Given the description of an element on the screen output the (x, y) to click on. 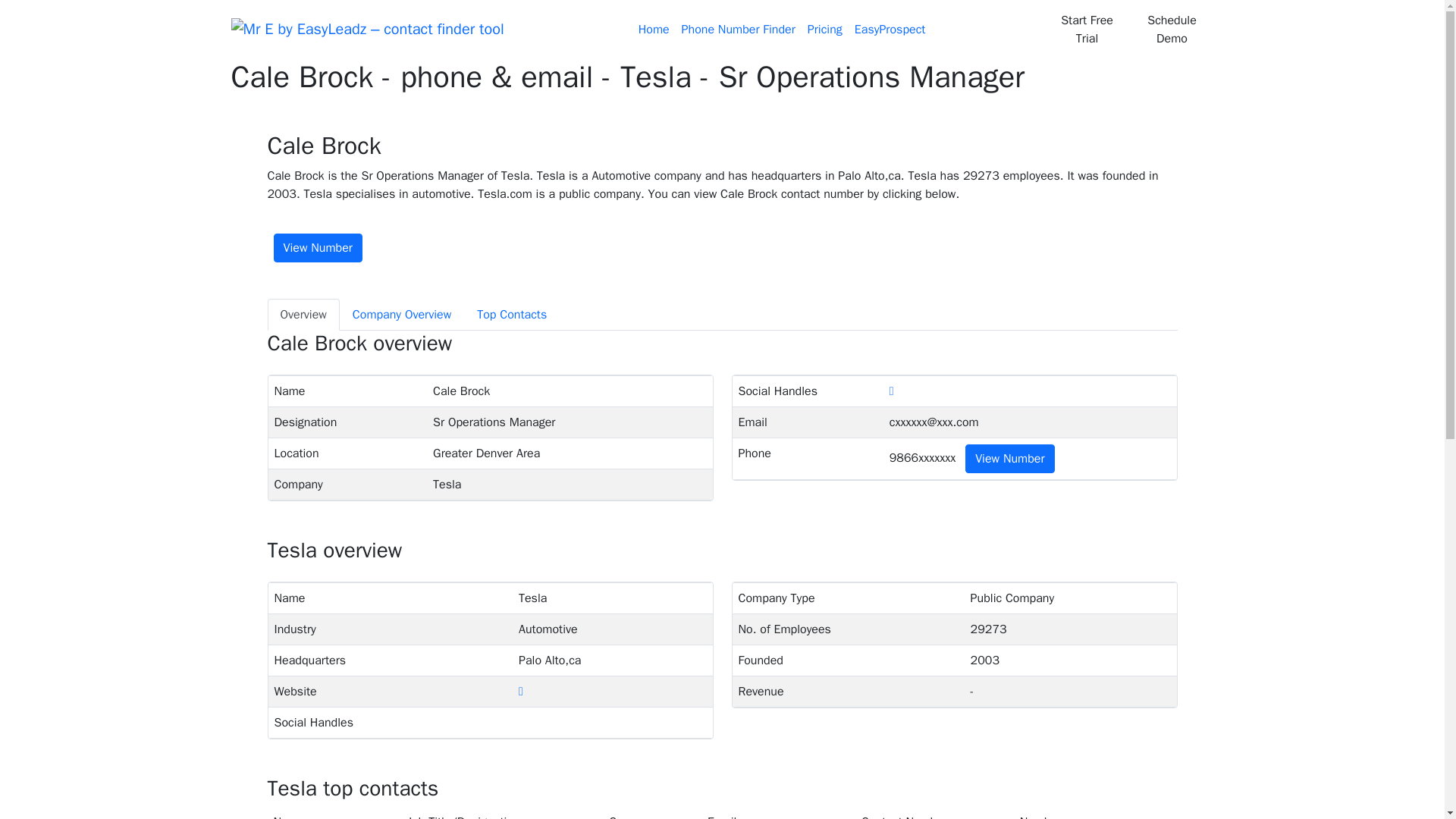
View Number (317, 247)
EasyProspect (889, 29)
Phone Number Finder (738, 29)
Pricing (825, 29)
Phone Number Finder (738, 29)
Schedule Demo (1172, 29)
Pricing (825, 29)
Top Contacts (511, 314)
Home (653, 29)
Start Free Trial (1085, 29)
Company Overview (401, 314)
View Number (1009, 458)
Home (653, 29)
EasyProspect (889, 29)
Overview (302, 314)
